Given the description of an element on the screen output the (x, y) to click on. 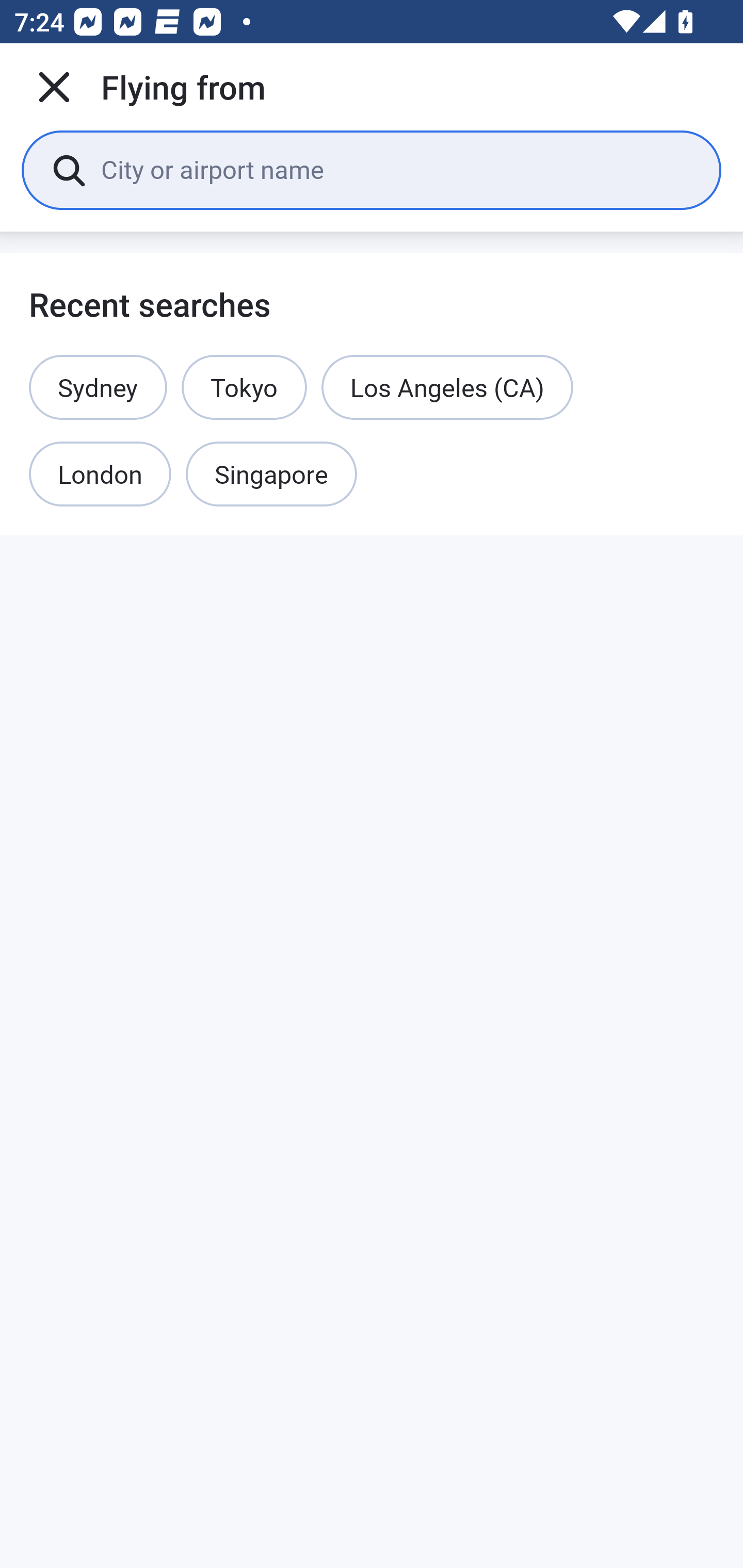
City or airport name (396, 169)
Sydney (97, 387)
Tokyo (243, 387)
Los Angeles (CA) (447, 387)
London (99, 474)
Singapore (271, 474)
